Given the description of an element on the screen output the (x, y) to click on. 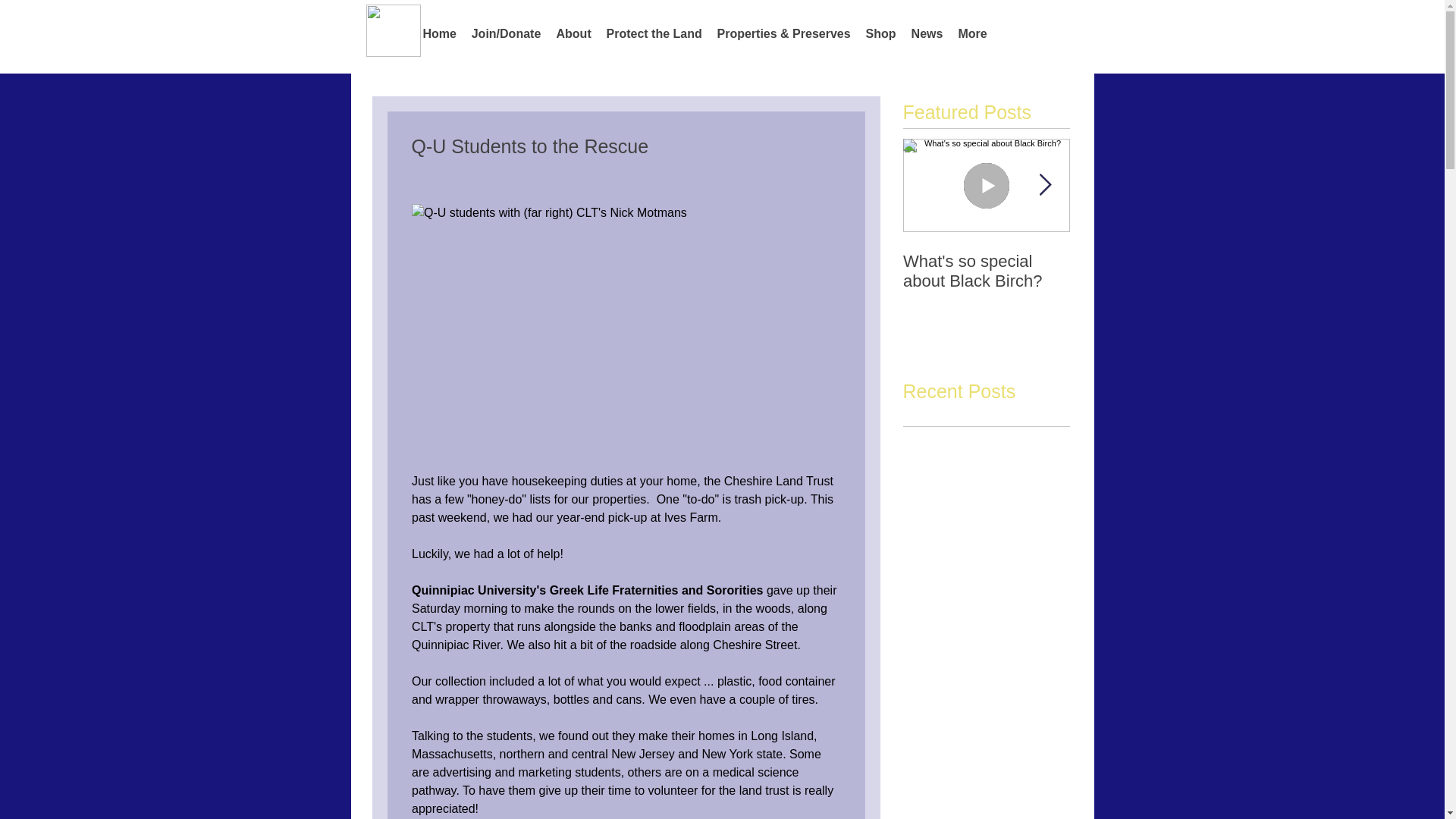
Protect the Land (654, 33)
Shop (881, 33)
About (573, 33)
Waking up your Garden (1152, 271)
What's so special about Black Birch? (985, 271)
Home (439, 33)
